Given the description of an element on the screen output the (x, y) to click on. 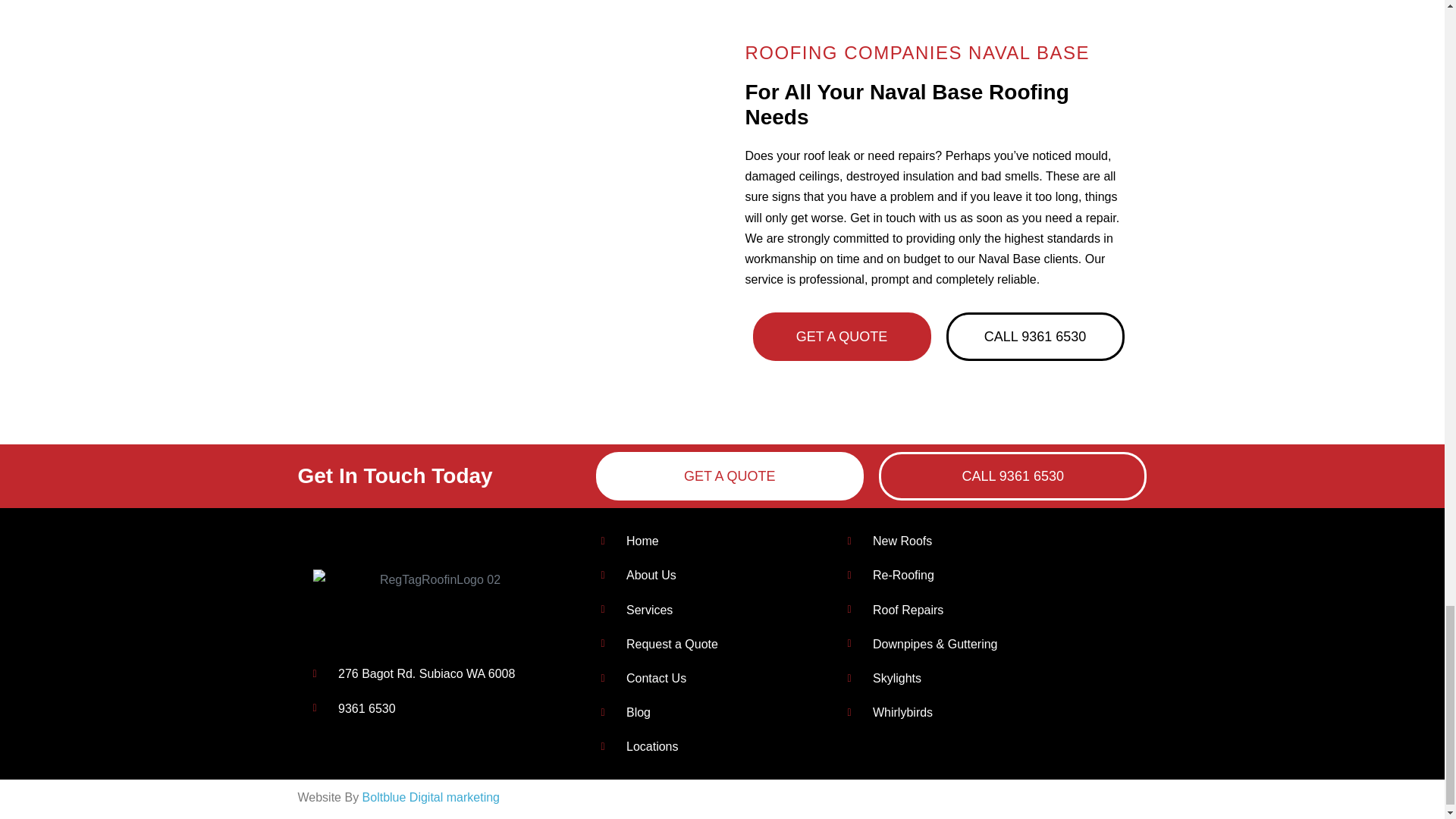
Naval Base, WA (505, 140)
